Given the description of an element on the screen output the (x, y) to click on. 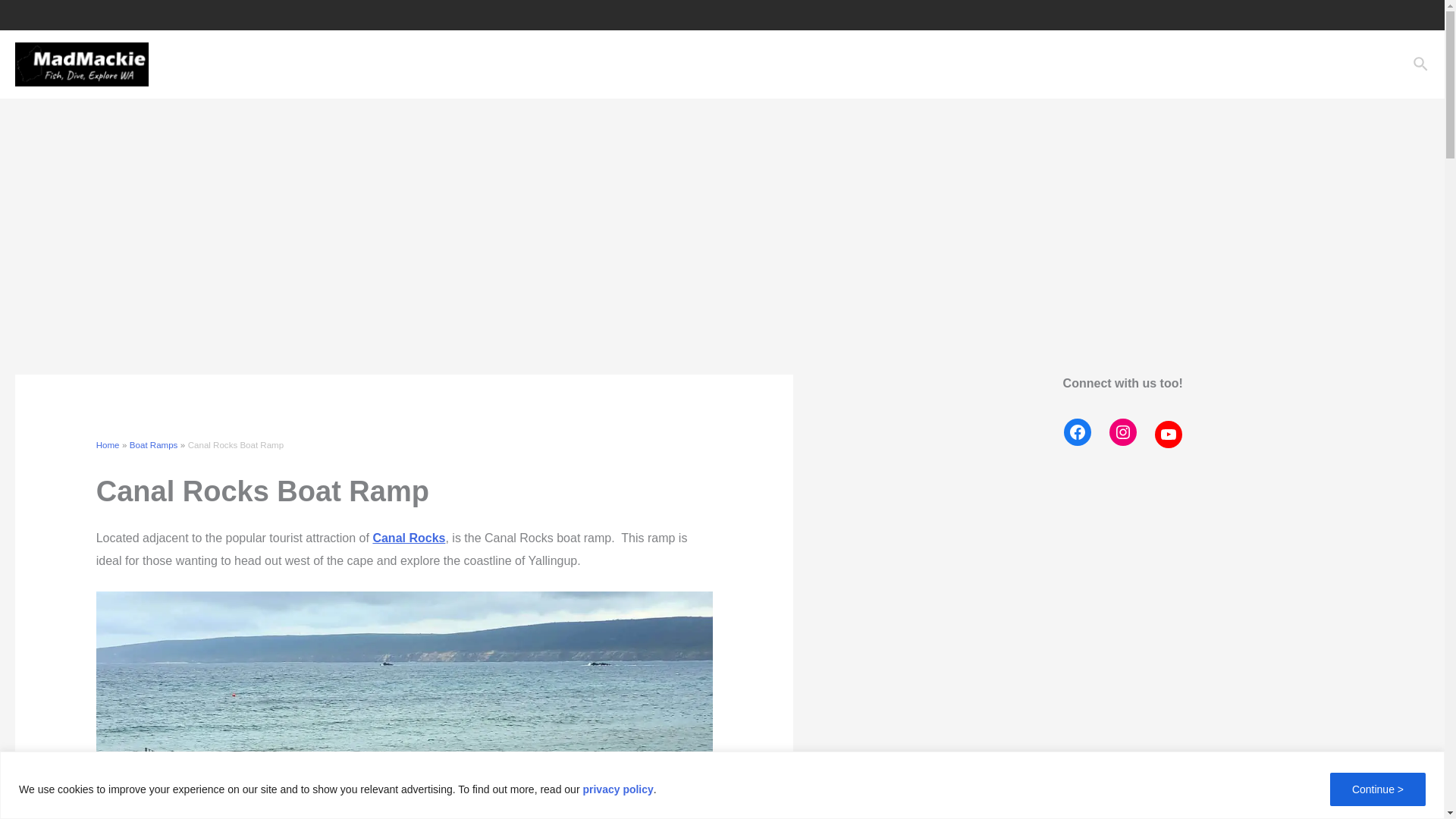
EXPLORE (819, 64)
FISHING (898, 64)
privacy policy (617, 788)
HOME (753, 64)
